Given the description of an element on the screen output the (x, y) to click on. 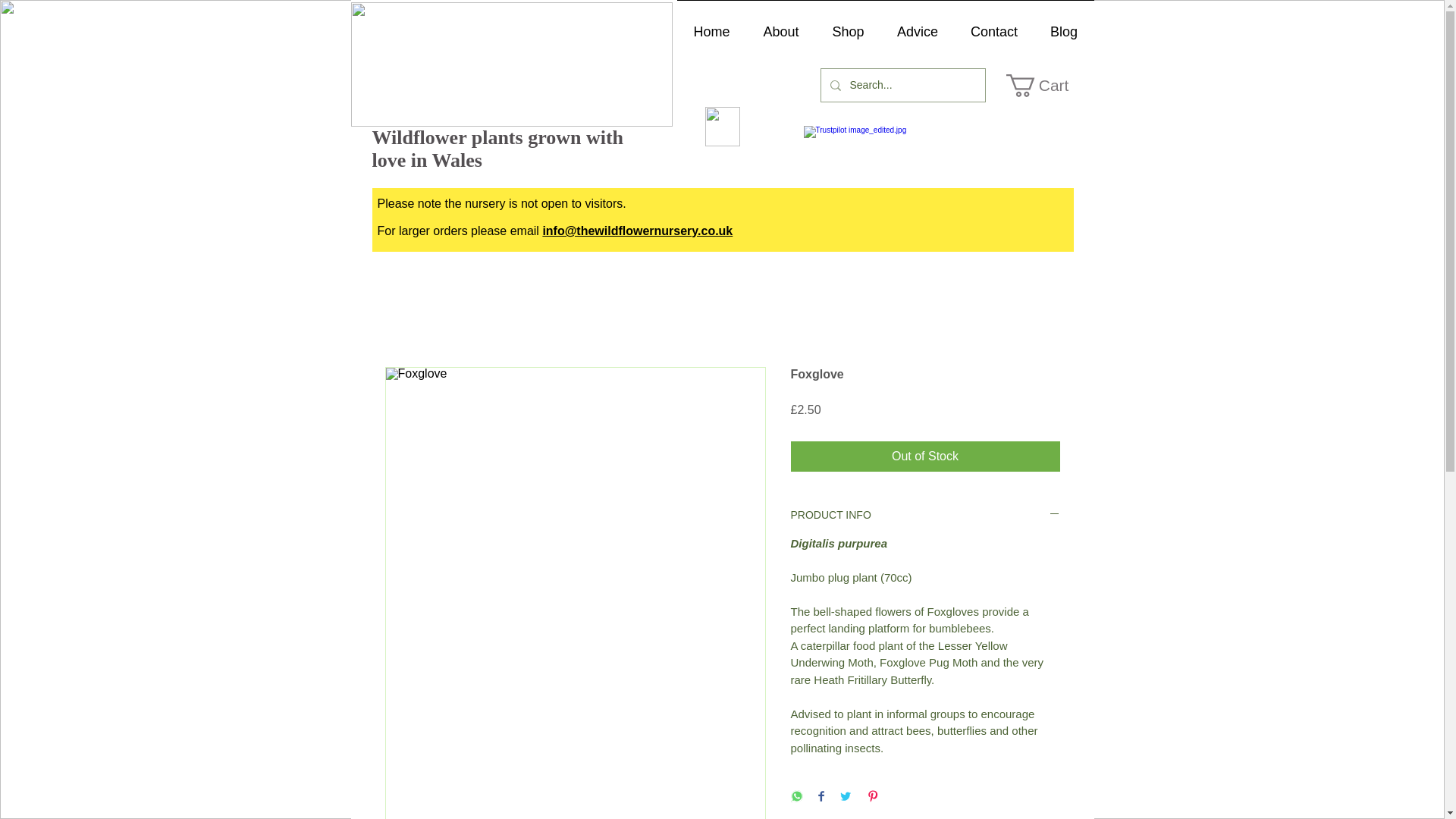
Cart (1048, 85)
Blog (1063, 24)
PRODUCT INFO (924, 514)
Home (711, 24)
Out of Stock (924, 456)
Cart (1048, 85)
Advice (917, 24)
Contact (993, 24)
